Given the description of an element on the screen output the (x, y) to click on. 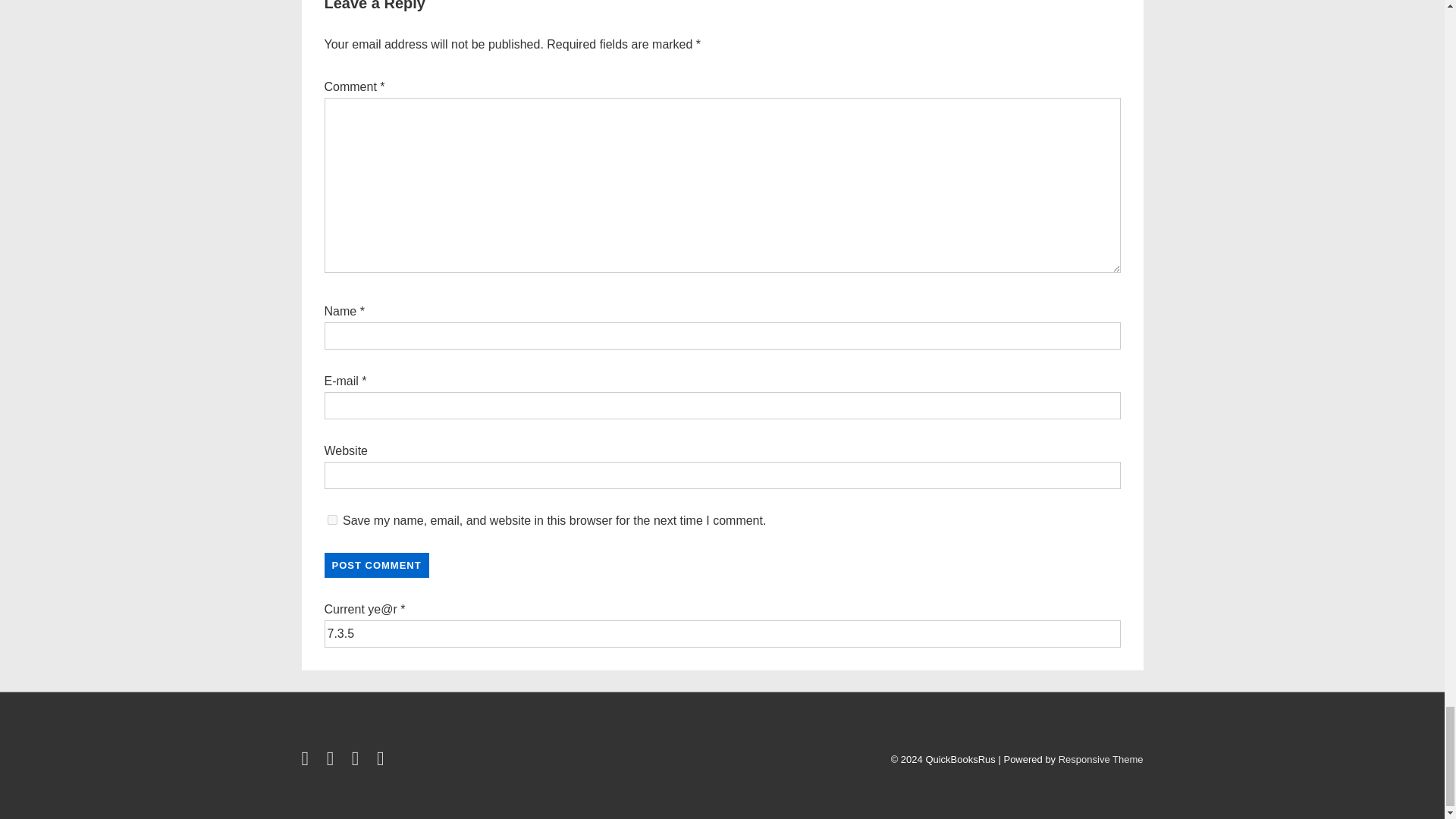
linkedin (333, 761)
7.3.5 (722, 633)
facebook (308, 761)
youtube (358, 761)
yes (332, 519)
email (382, 761)
Post Comment (376, 565)
